Given the description of an element on the screen output the (x, y) to click on. 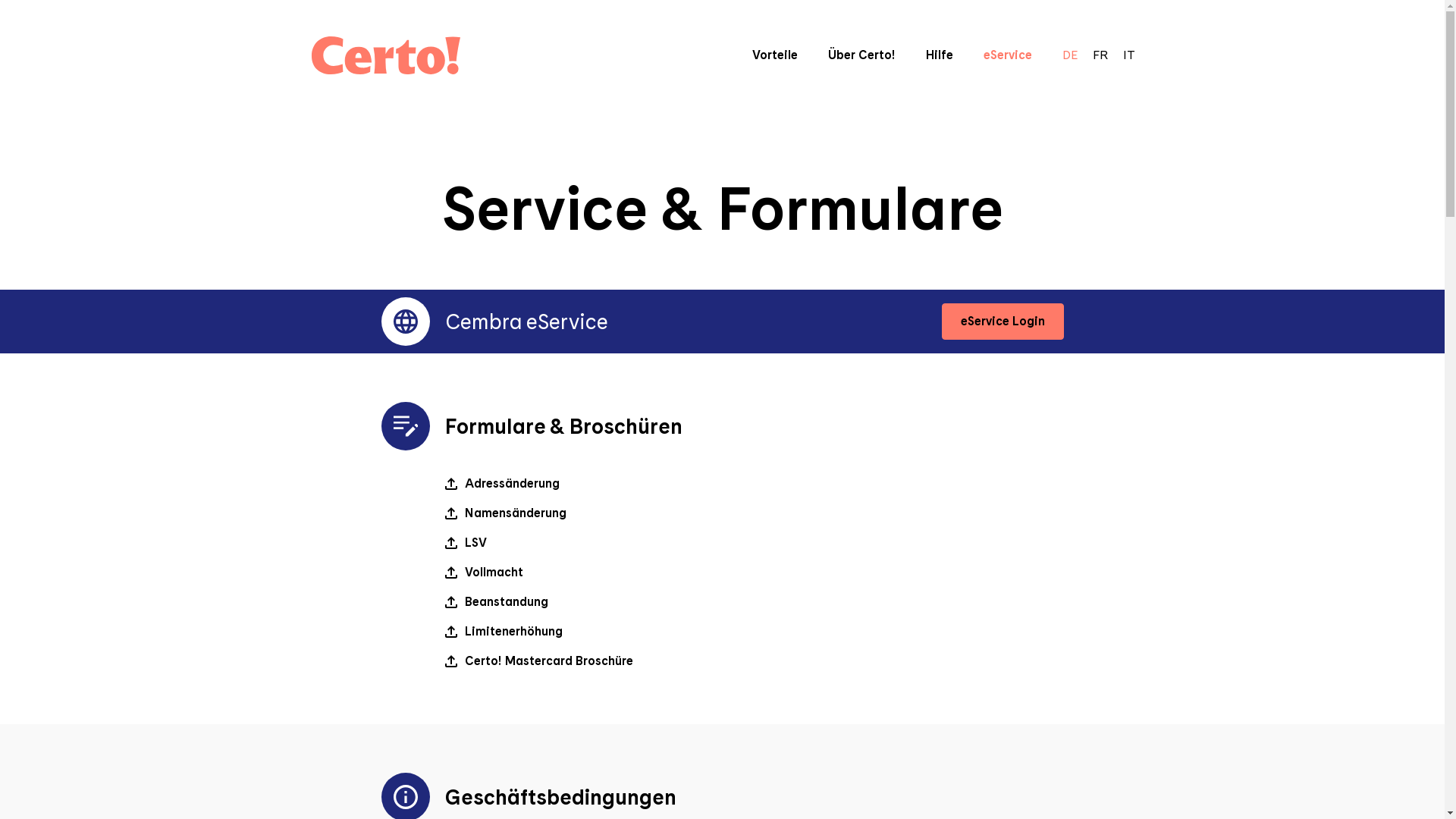
eService Login Element type: text (1002, 321)
Vollmacht Element type: text (483, 572)
DE Element type: text (1068, 54)
eService Element type: text (1006, 54)
Vorteile Element type: text (774, 54)
LSV Element type: text (465, 542)
FR Element type: text (1099, 54)
Hilfe Element type: text (938, 54)
Beanstandung Element type: text (495, 602)
IT Element type: text (1128, 54)
